Given the description of an element on the screen output the (x, y) to click on. 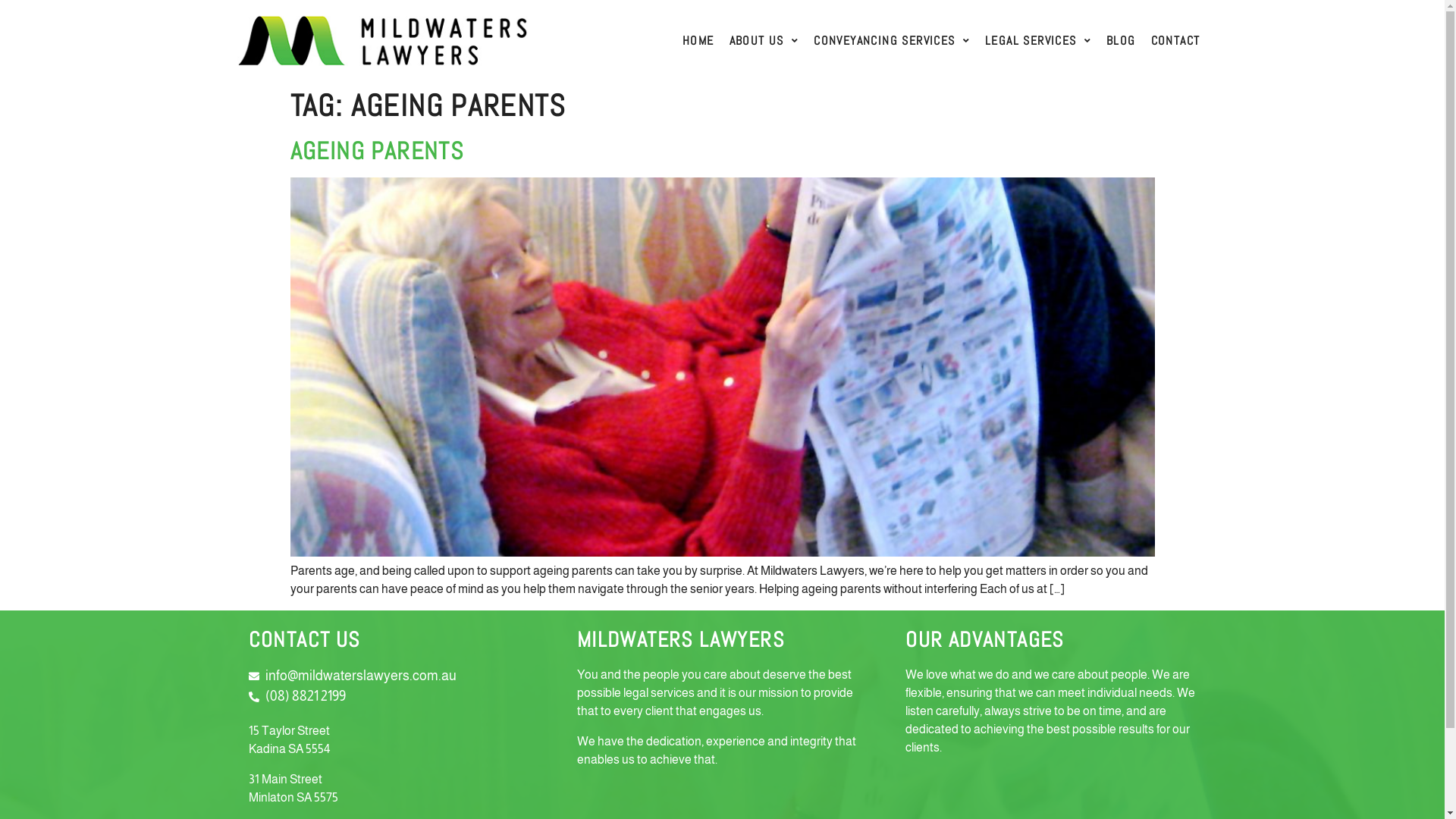
info@mildwaterslawyers.com.au Element type: text (393, 675)
LEGAL SERVICES Element type: text (1037, 40)
(08) 8821 2199 Element type: text (393, 696)
AGEING PARENTS Element type: text (376, 150)
HOME Element type: text (697, 40)
BLOG Element type: text (1120, 40)
CONTACT Element type: text (1175, 40)
CONVEYANCING SERVICES Element type: text (891, 40)
ABOUT US Element type: text (763, 40)
Ageing Parents 1 Element type: hover (721, 366)
